Given the description of an element on the screen output the (x, y) to click on. 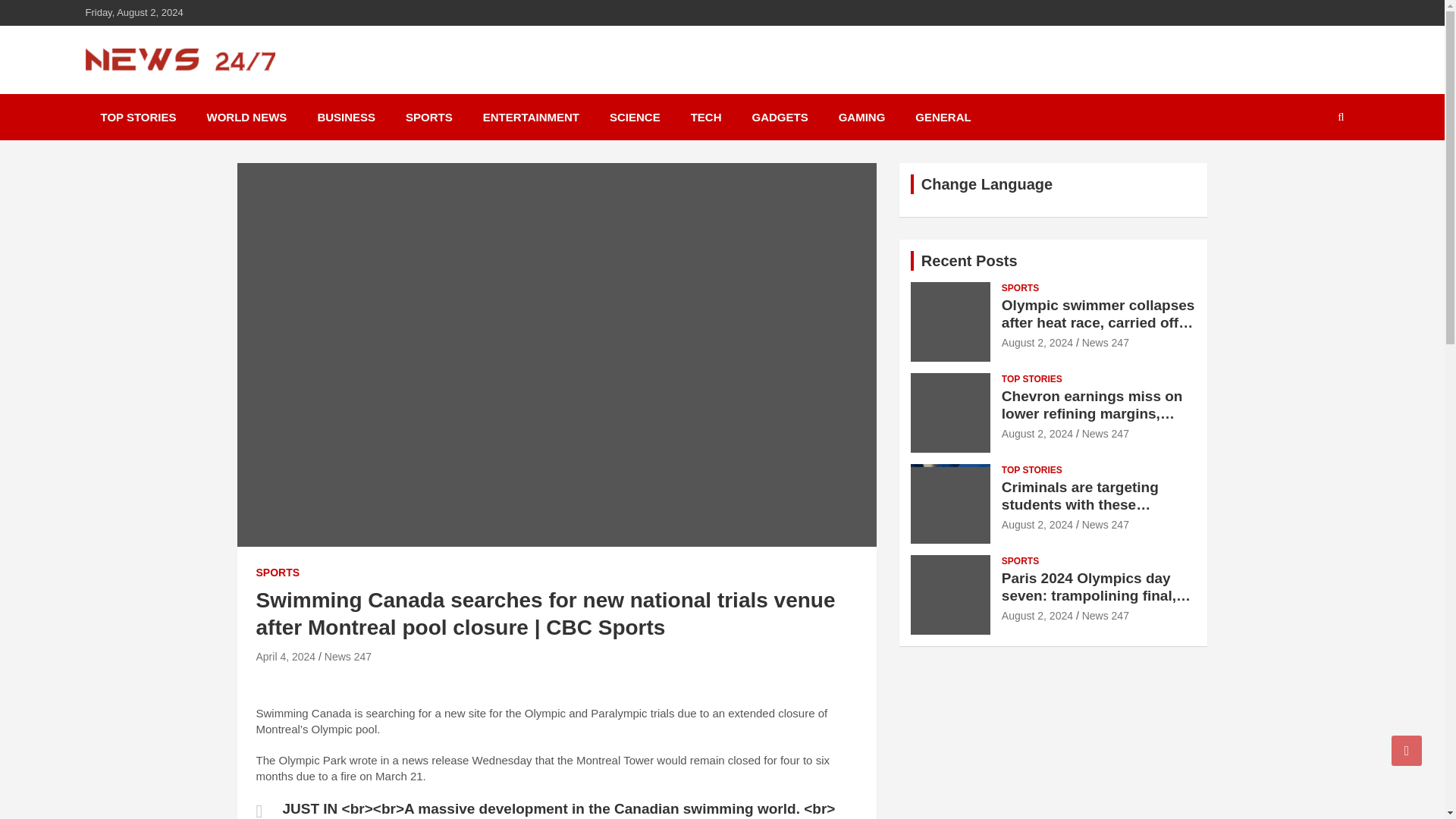
Recent Posts (969, 260)
GAMING (862, 117)
News 247 (1105, 342)
GENERAL (942, 117)
News 247 (153, 90)
SPORTS (1020, 287)
ENTERTAINMENT (530, 117)
Go to Top (1406, 750)
News 247 (347, 656)
